Given the description of an element on the screen output the (x, y) to click on. 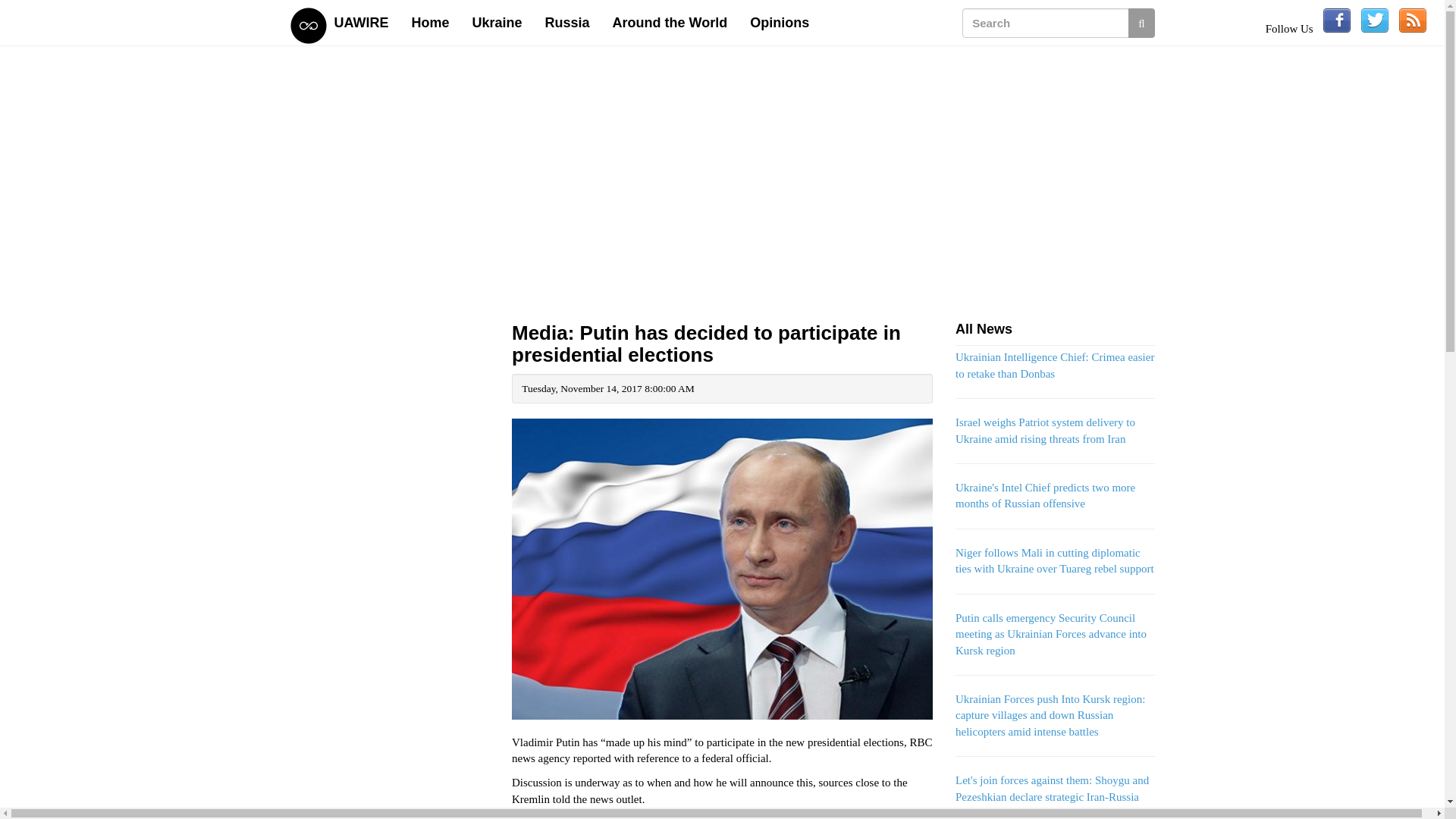
Advertisement (389, 790)
Subscribe to our rss feed (1412, 20)
UAWIRE (361, 22)
Opinions (779, 22)
Ukraine (497, 22)
Russia (567, 22)
Around the World (670, 22)
Follow us on Facebook (1337, 20)
Follow us on Twitter (1375, 20)
